Given the description of an element on the screen output the (x, y) to click on. 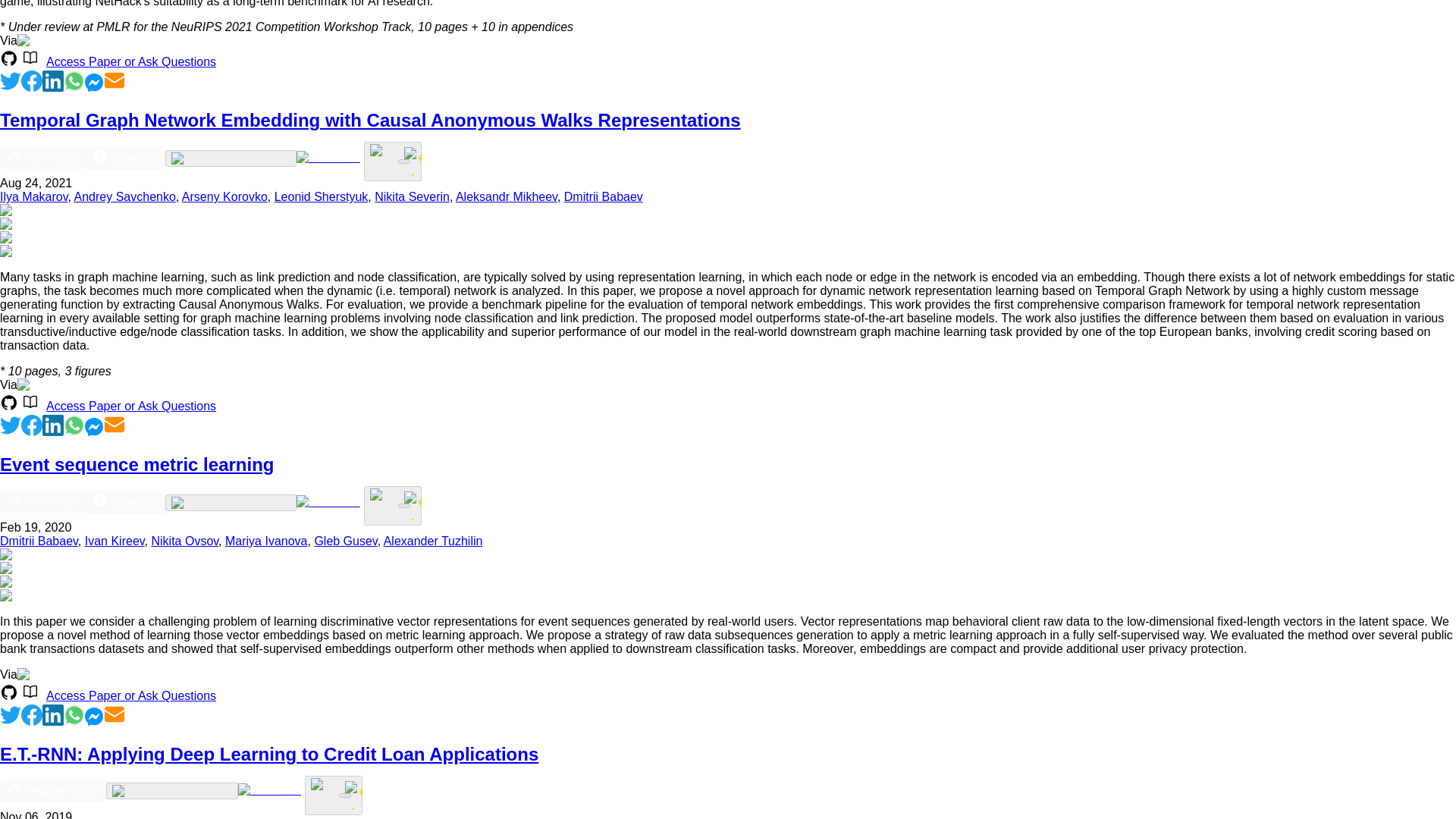
Email Icon (114, 79)
Send via Messenger (93, 721)
Github Icon (8, 402)
Twitter Icon (10, 87)
Messenger Icon (93, 82)
Linkedin Icon (53, 80)
Github Icon (14, 156)
Get alerts when new code is available for this paper (403, 160)
Andrey Savchenko (125, 196)
Facebook Icon (31, 80)
Share via Email (114, 87)
Send via Messenger (93, 87)
Twitter Icon (10, 80)
Share via Email (114, 431)
